Given the description of an element on the screen output the (x, y) to click on. 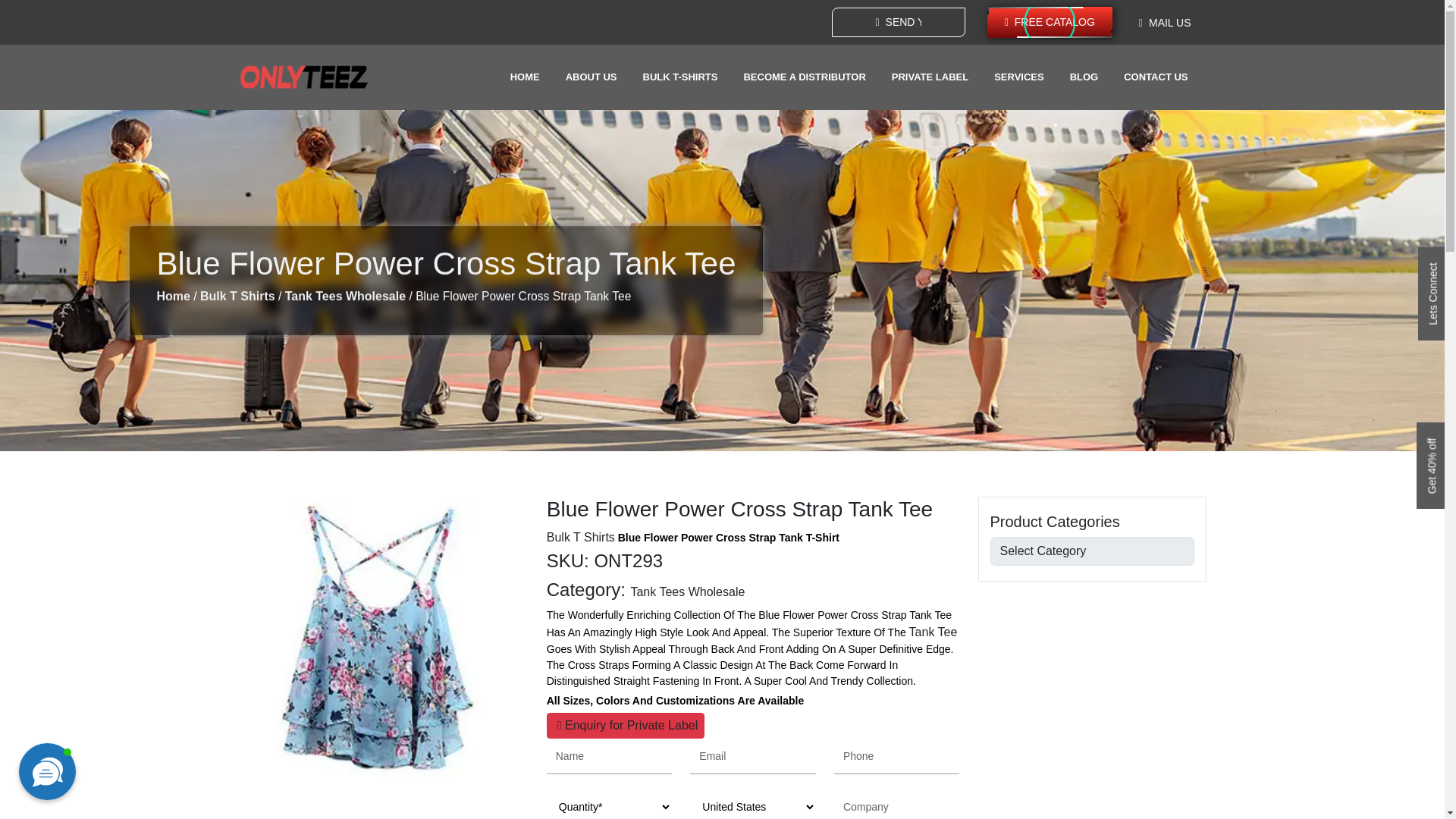
Bulk T Shirts (580, 536)
Home (172, 295)
FREE CATALOG (1049, 21)
Bulk T Shirts (237, 295)
Bulk T-Shirts (680, 77)
BULK T-SHIRTS (680, 77)
MAIL US (1165, 23)
CONTACT US (1156, 77)
Tank Tee (933, 631)
BECOME A DISTRIBUTOR (803, 77)
